Given the description of an element on the screen output the (x, y) to click on. 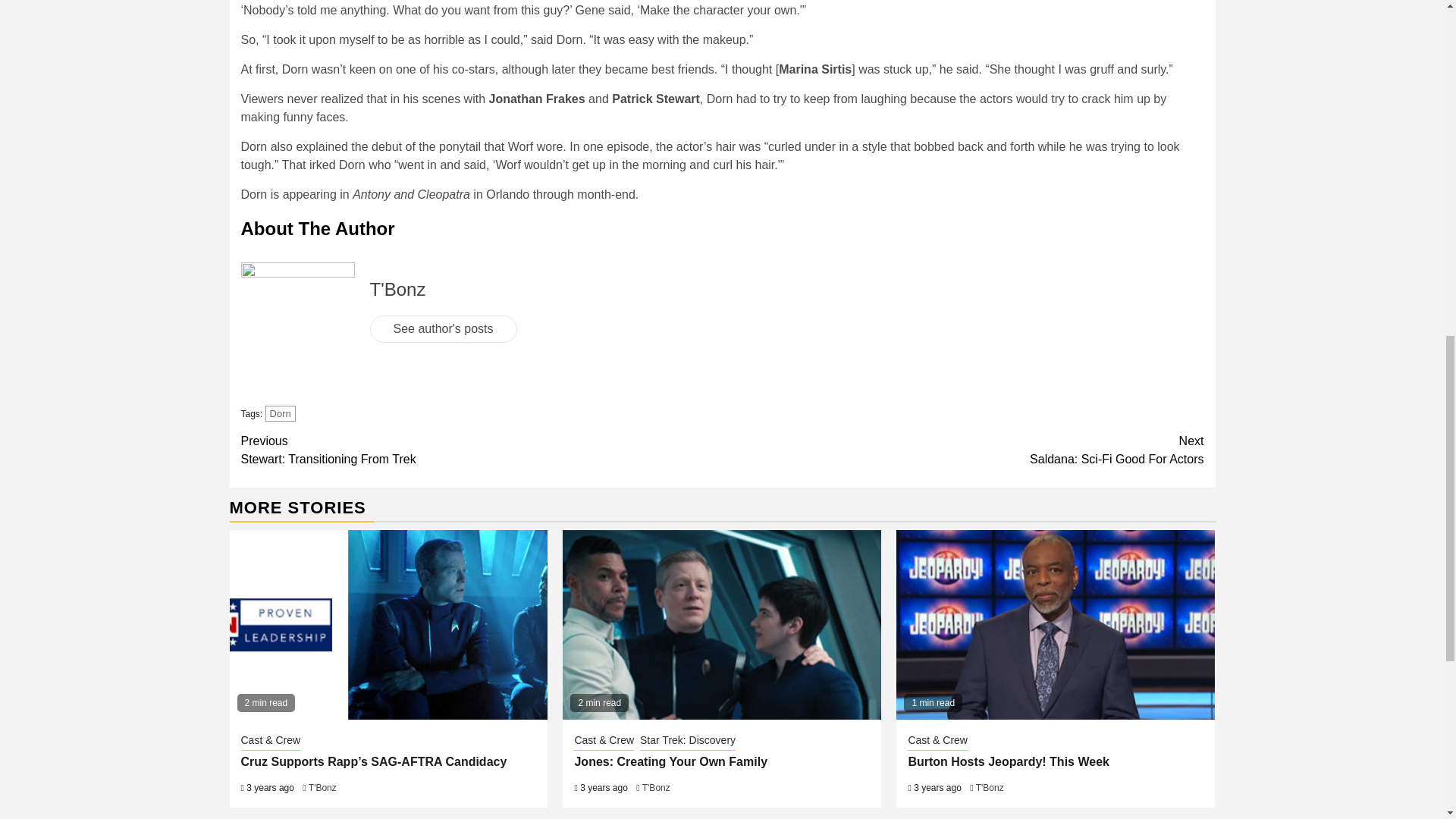
T'Bonz (481, 450)
Dorn (322, 787)
See author's posts (279, 413)
T'Bonz (963, 450)
